Given the description of an element on the screen output the (x, y) to click on. 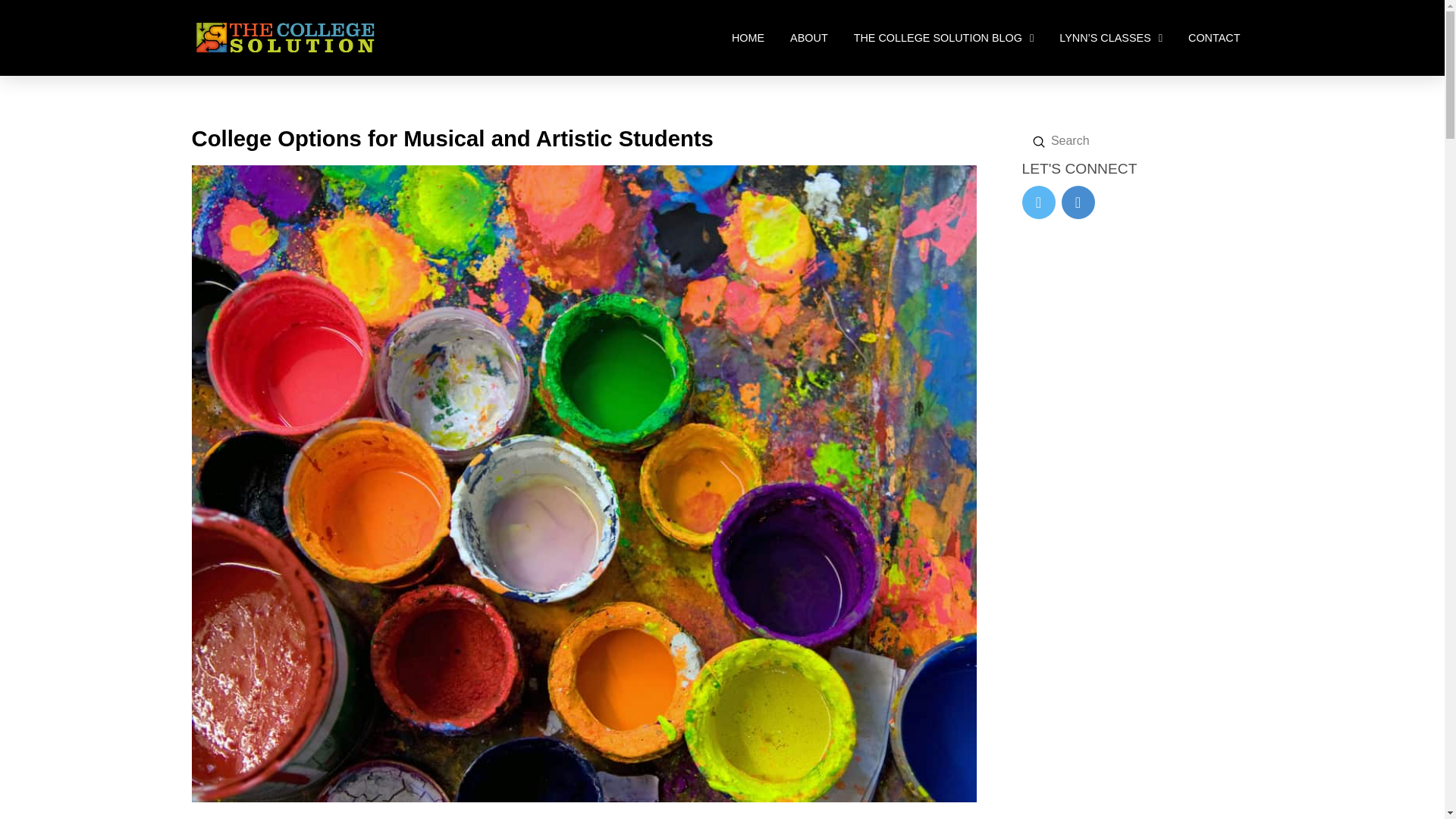
HOME (748, 37)
THE COLLEGE SOLUTION BLOG (943, 37)
ABOUT (809, 37)
CONTACT (1213, 37)
